Given the description of an element on the screen output the (x, y) to click on. 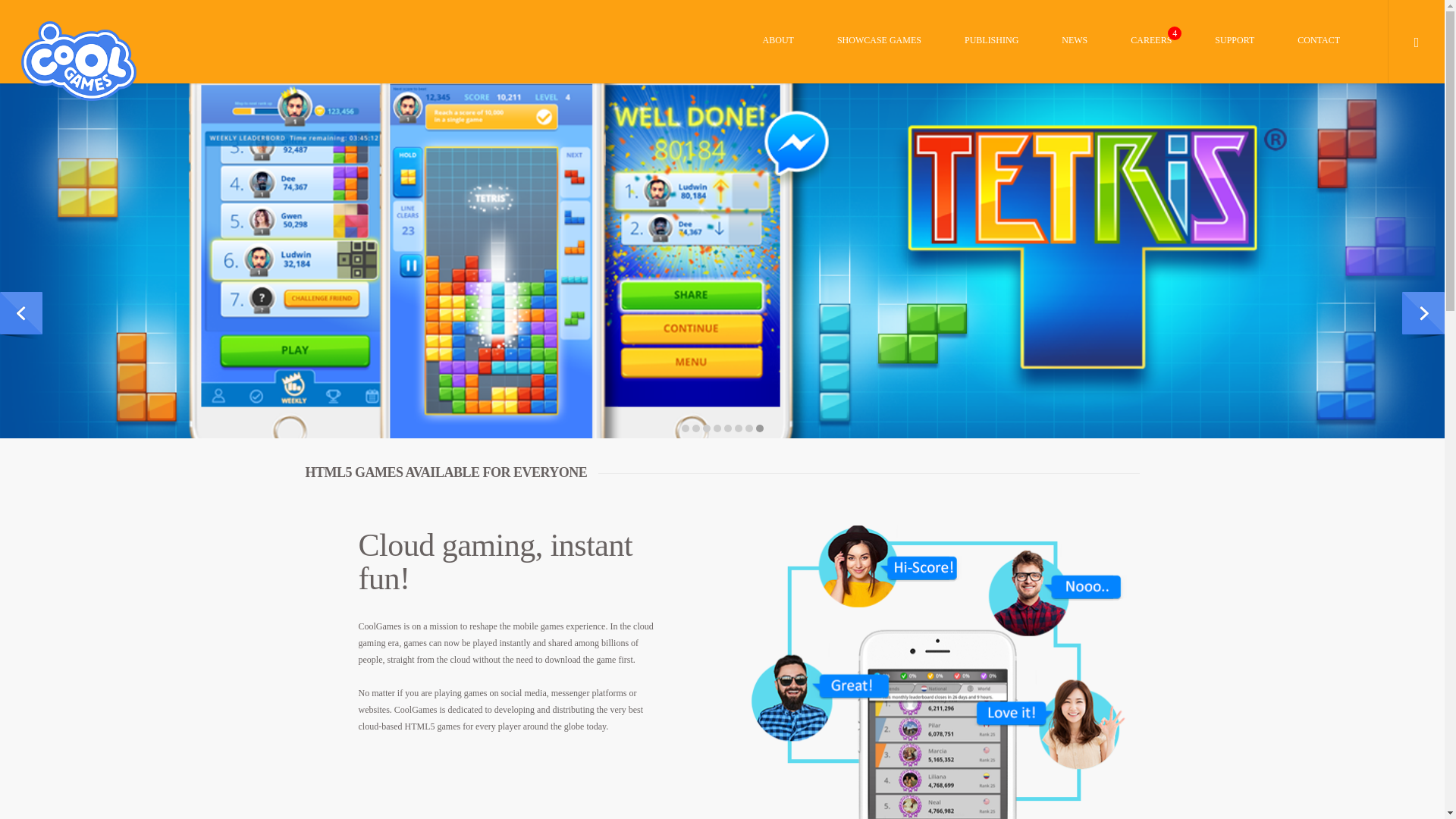
SHOWCASE GAMES (879, 60)
PUBLISHING (991, 60)
